Given the description of an element on the screen output the (x, y) to click on. 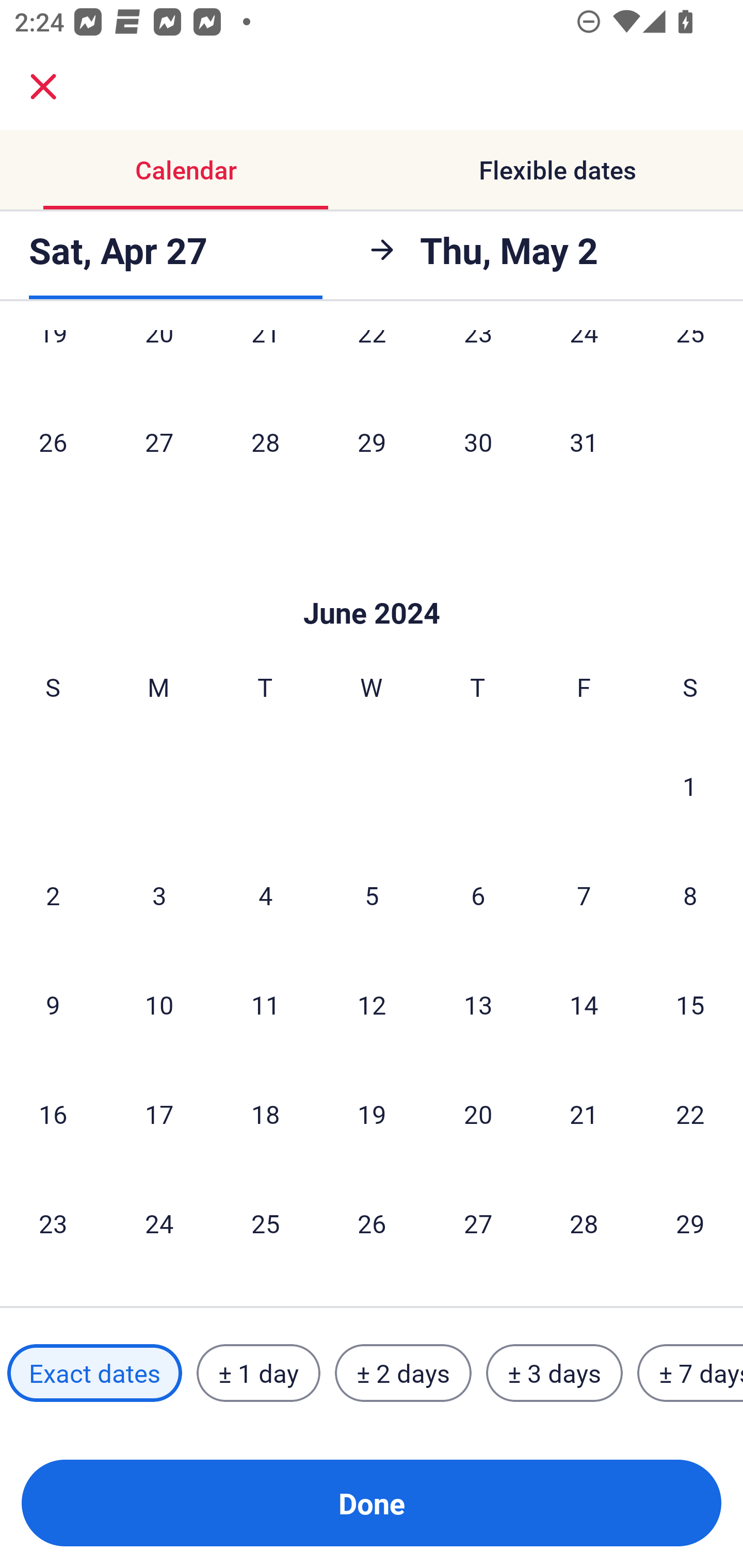
close. (43, 86)
Flexible dates (557, 170)
26 Sunday, May 26, 2024 (53, 440)
27 Monday, May 27, 2024 (159, 440)
28 Tuesday, May 28, 2024 (265, 440)
29 Wednesday, May 29, 2024 (371, 440)
30 Thursday, May 30, 2024 (477, 440)
31 Friday, May 31, 2024 (584, 440)
Skip to Done (371, 582)
1 Saturday, June 1, 2024 (689, 785)
2 Sunday, June 2, 2024 (53, 895)
3 Monday, June 3, 2024 (159, 895)
4 Tuesday, June 4, 2024 (265, 895)
5 Wednesday, June 5, 2024 (371, 895)
6 Thursday, June 6, 2024 (477, 895)
7 Friday, June 7, 2024 (584, 895)
8 Saturday, June 8, 2024 (690, 895)
9 Sunday, June 9, 2024 (53, 1003)
10 Monday, June 10, 2024 (159, 1003)
11 Tuesday, June 11, 2024 (265, 1003)
12 Wednesday, June 12, 2024 (371, 1003)
13 Thursday, June 13, 2024 (477, 1003)
14 Friday, June 14, 2024 (584, 1003)
15 Saturday, June 15, 2024 (690, 1003)
16 Sunday, June 16, 2024 (53, 1113)
17 Monday, June 17, 2024 (159, 1113)
18 Tuesday, June 18, 2024 (265, 1113)
19 Wednesday, June 19, 2024 (371, 1113)
20 Thursday, June 20, 2024 (477, 1113)
21 Friday, June 21, 2024 (584, 1113)
22 Saturday, June 22, 2024 (690, 1113)
23 Sunday, June 23, 2024 (53, 1222)
24 Monday, June 24, 2024 (159, 1222)
25 Tuesday, June 25, 2024 (265, 1222)
26 Wednesday, June 26, 2024 (371, 1222)
27 Thursday, June 27, 2024 (477, 1222)
28 Friday, June 28, 2024 (584, 1222)
29 Saturday, June 29, 2024 (690, 1222)
Exact dates (94, 1372)
± 1 day (258, 1372)
± 2 days (403, 1372)
± 3 days (553, 1372)
± 7 days (690, 1372)
Done (371, 1502)
